Given the description of an element on the screen output the (x, y) to click on. 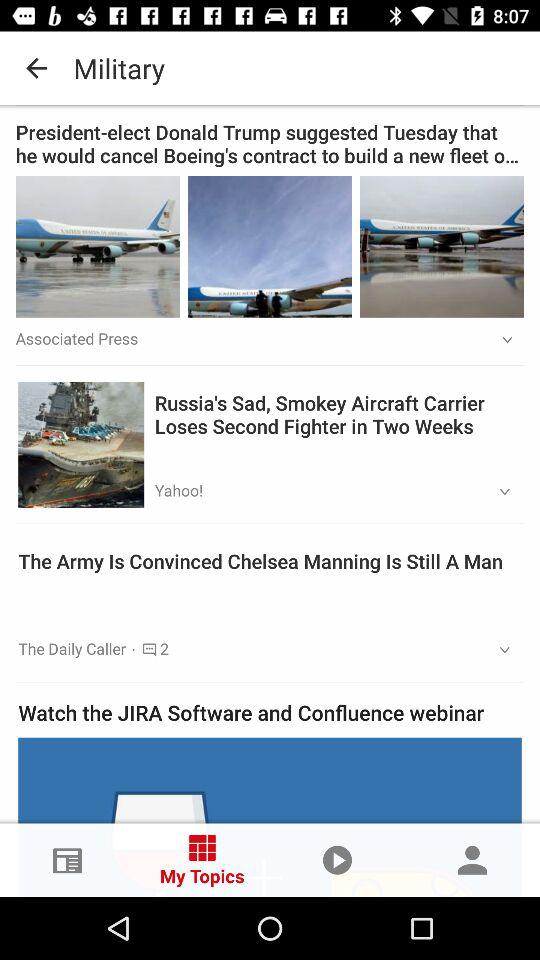
select the icon below the daily caller item (269, 712)
